Given the description of an element on the screen output the (x, y) to click on. 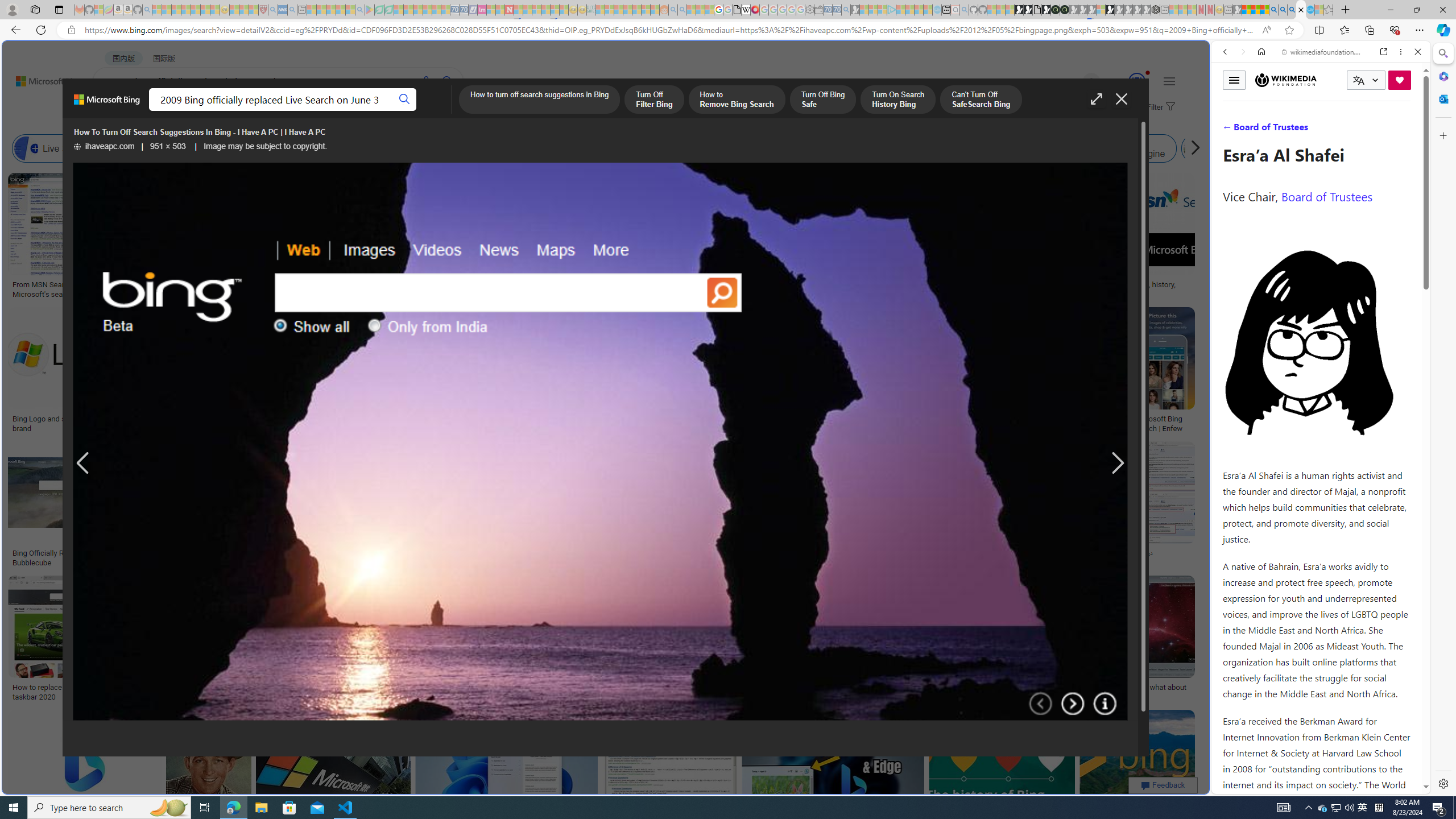
How to turn off search suggestions in Bing (539, 100)
Search or enter web address (922, 108)
Remove the 'News & Interests' bar from Bing | TechLifeSave (863, 371)
